Given the description of an element on the screen output the (x, y) to click on. 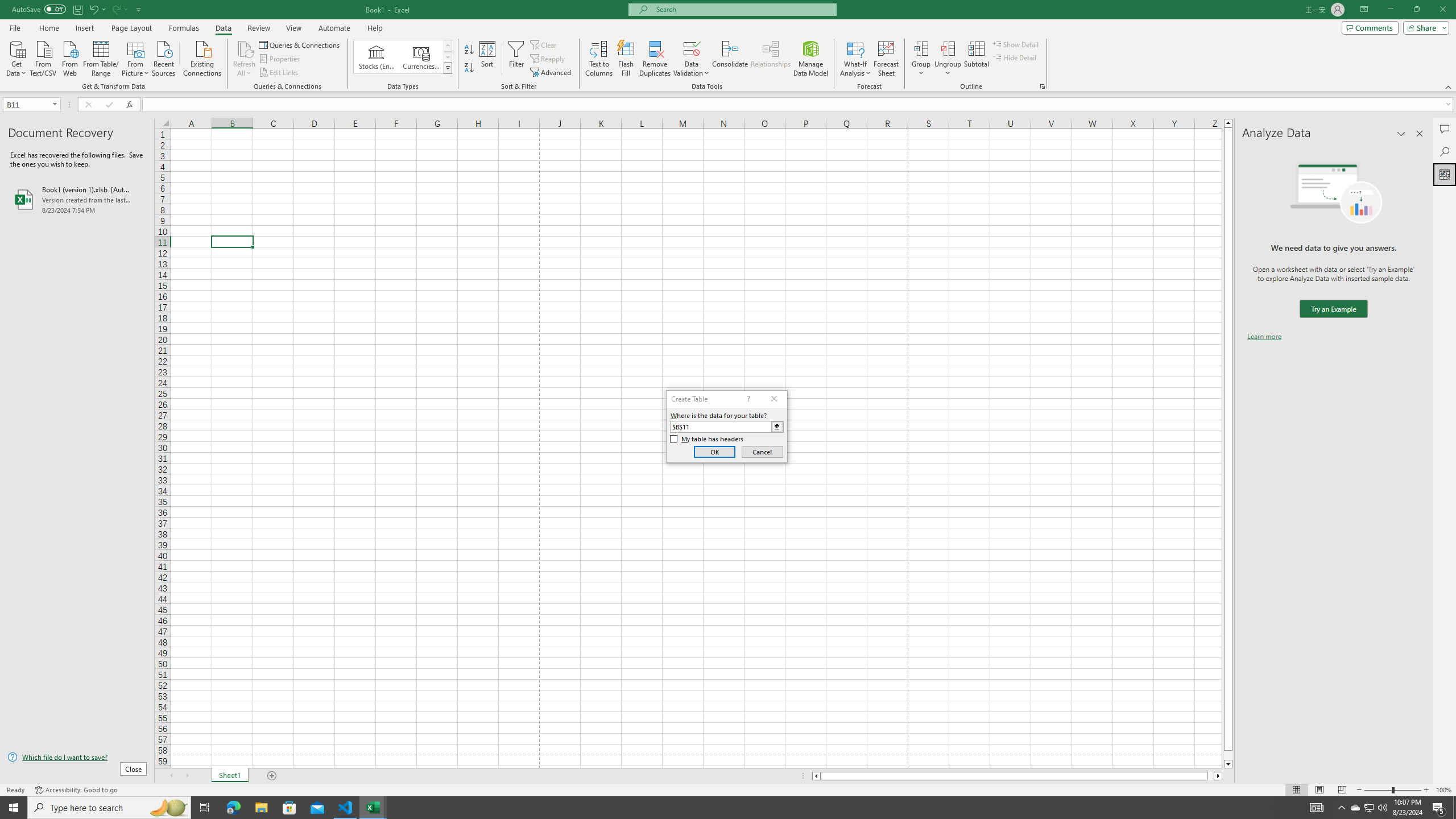
Consolidate... (729, 58)
